Given the description of an element on the screen output the (x, y) to click on. 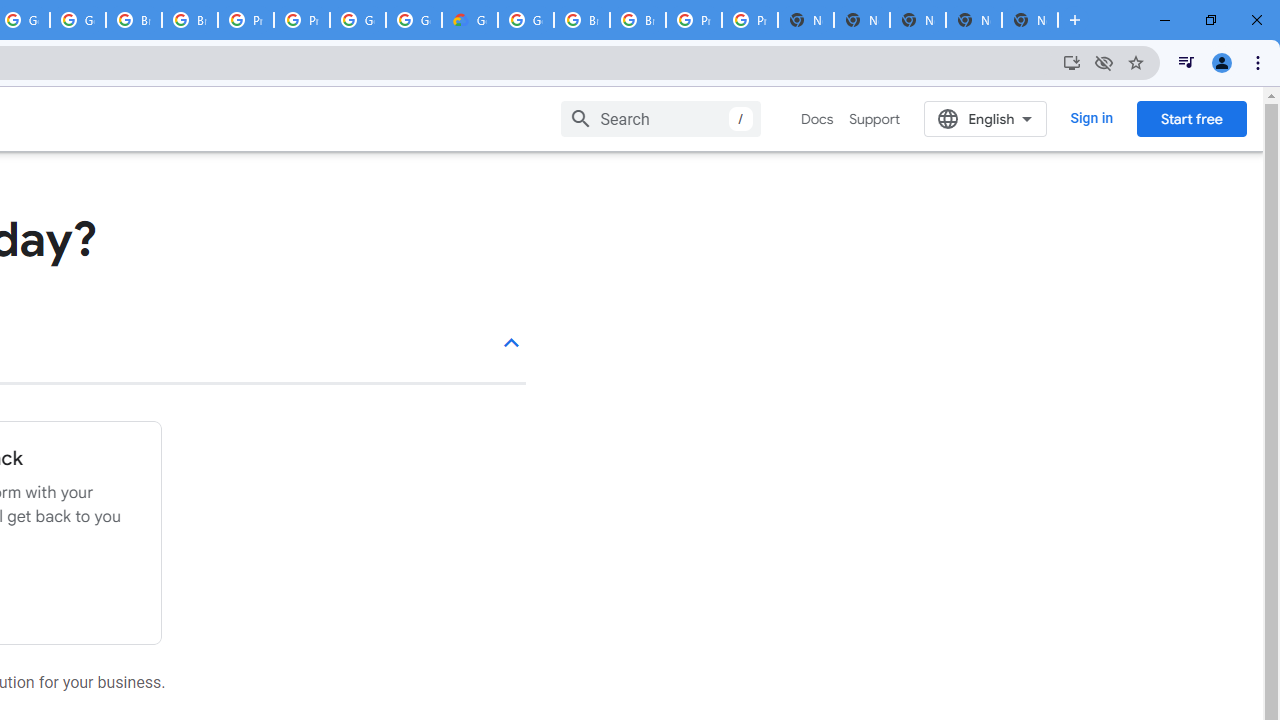
Browse Chrome as a guest - Computer - Google Chrome Help (134, 20)
Google Cloud Platform (525, 20)
Install Google Cloud (1071, 62)
Docs (817, 119)
